Given the description of an element on the screen output the (x, y) to click on. 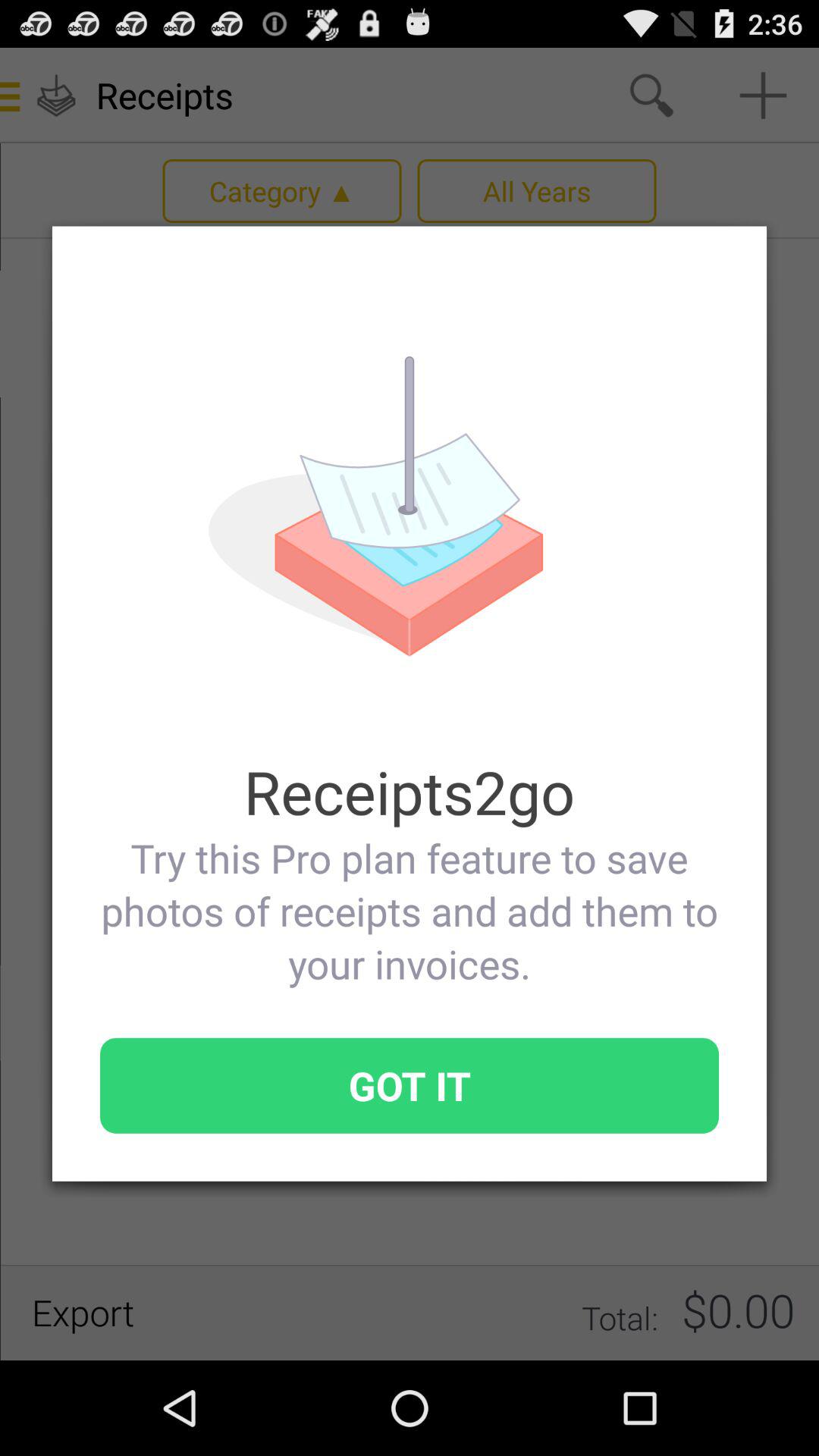
click the got it item (409, 1085)
